Given the description of an element on the screen output the (x, y) to click on. 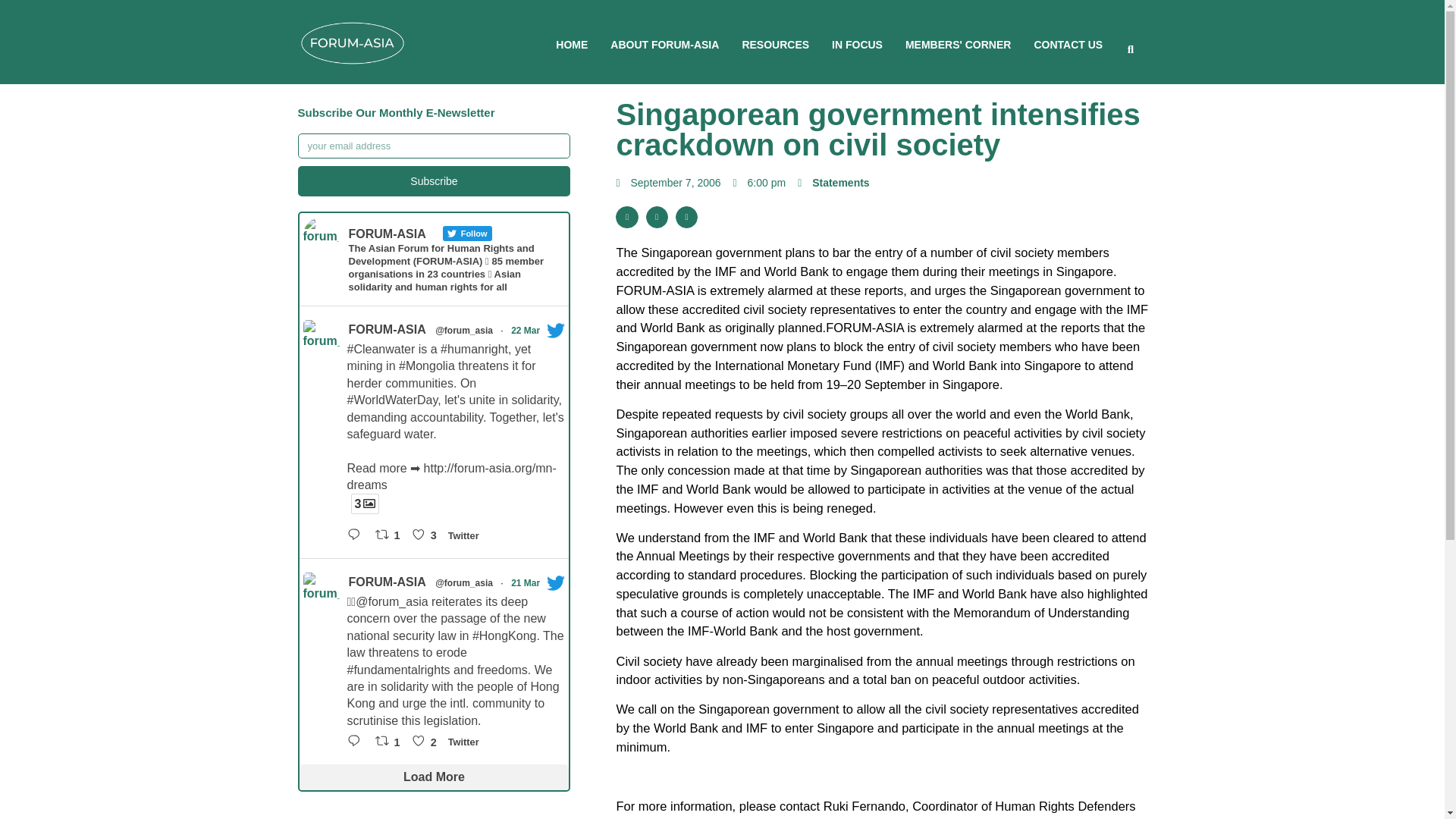
RESOURCES (774, 44)
IN FOCUS (856, 44)
HOME (571, 44)
ABOUT FORUM-ASIA (664, 44)
MEMBERS' CORNER (957, 44)
CONTACT US (1067, 44)
